Given the description of an element on the screen output the (x, y) to click on. 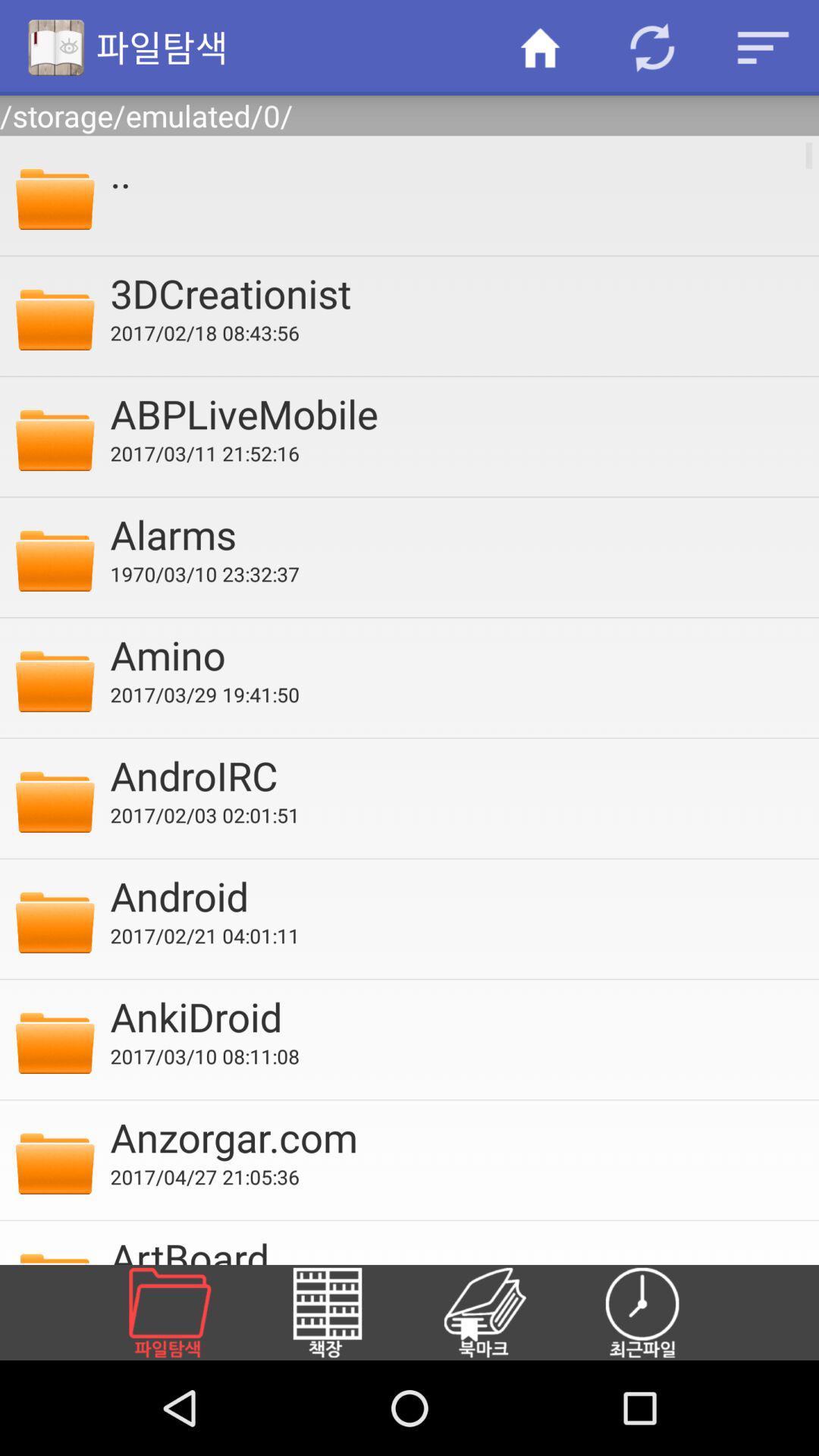
turn on the abplivemobile icon (454, 413)
